Given the description of an element on the screen output the (x, y) to click on. 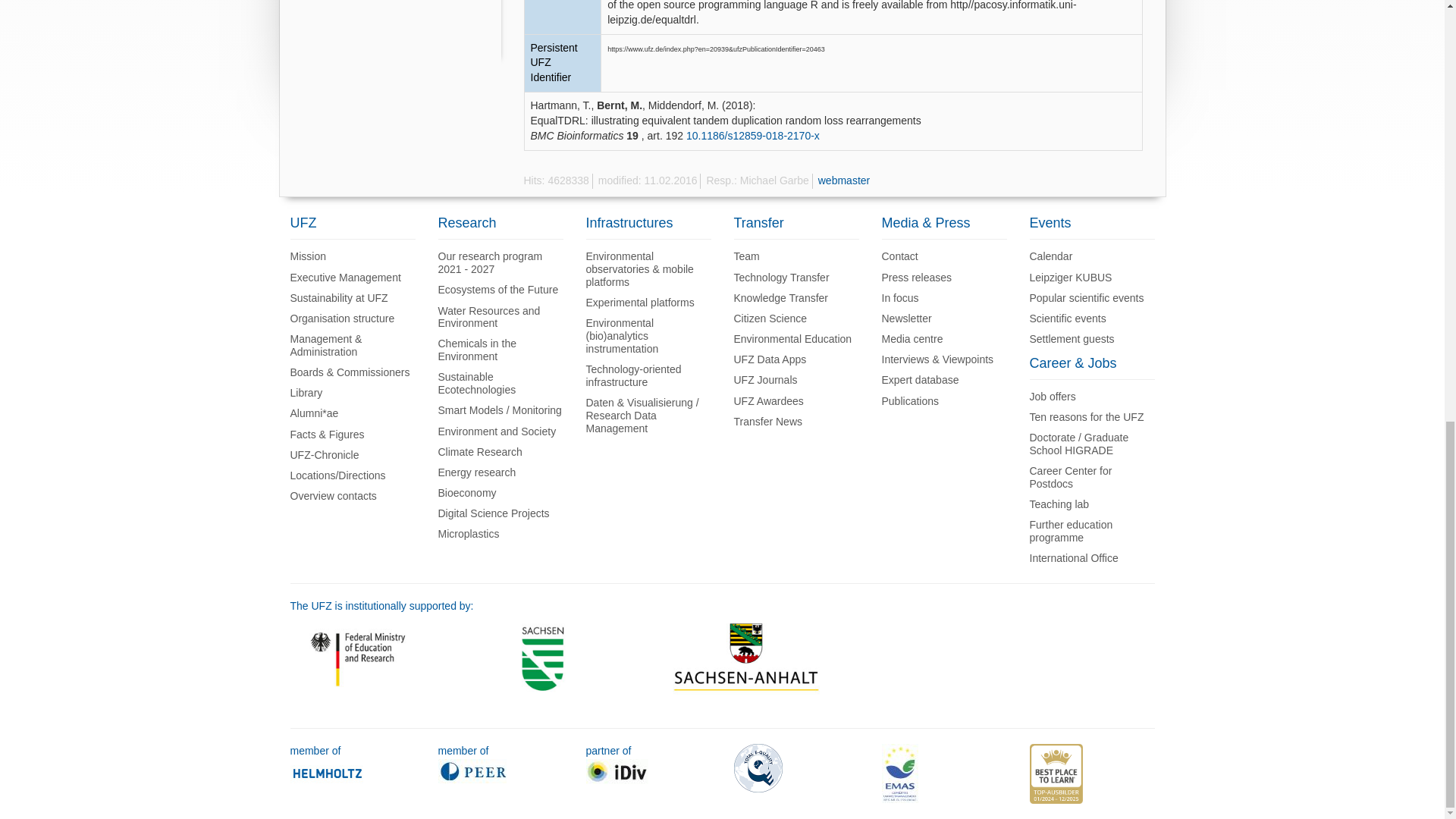
Registered with EMAS (898, 772)
